Given the description of an element on the screen output the (x, y) to click on. 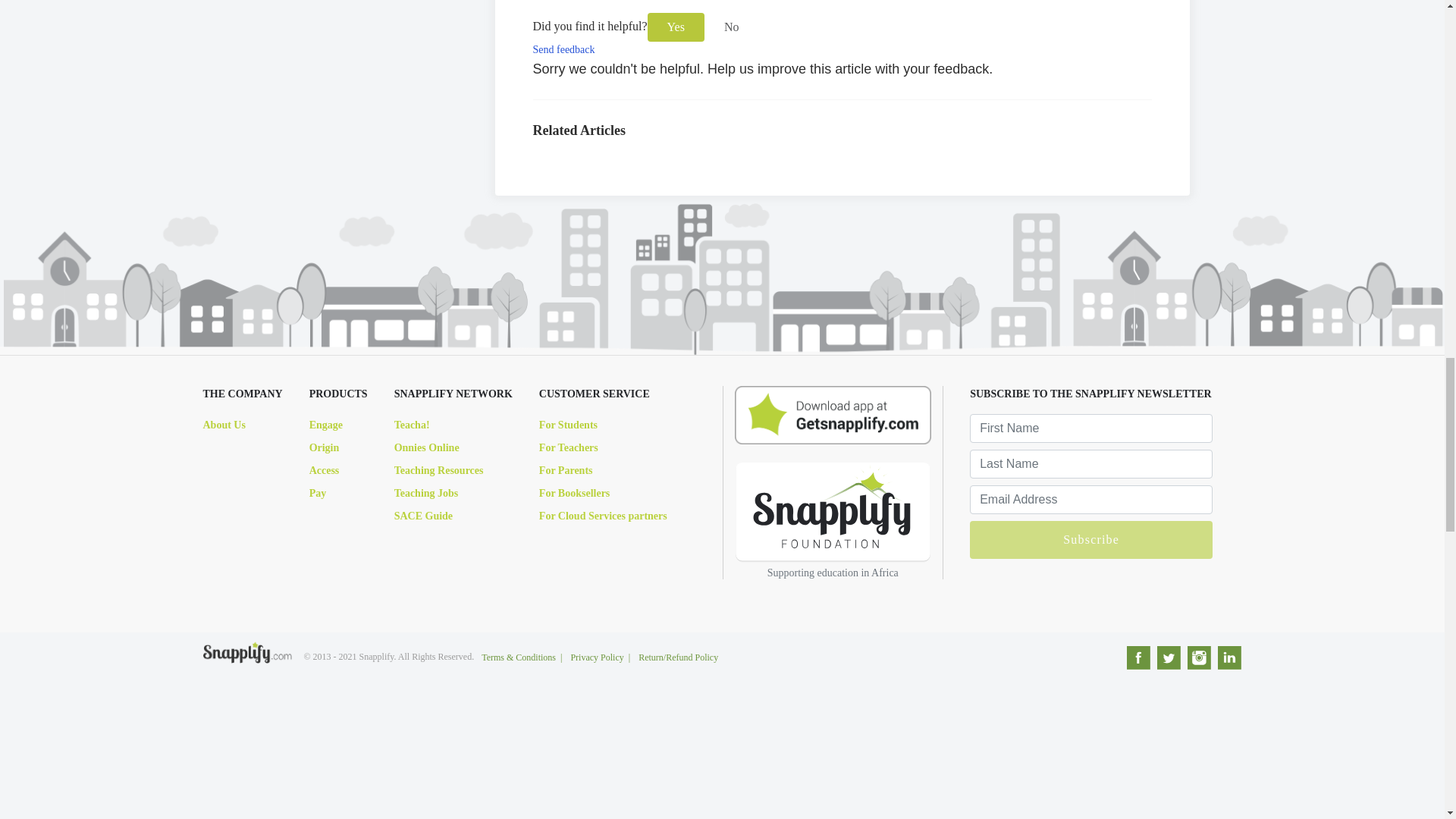
Subscribe (1090, 539)
